Given the description of an element on the screen output the (x, y) to click on. 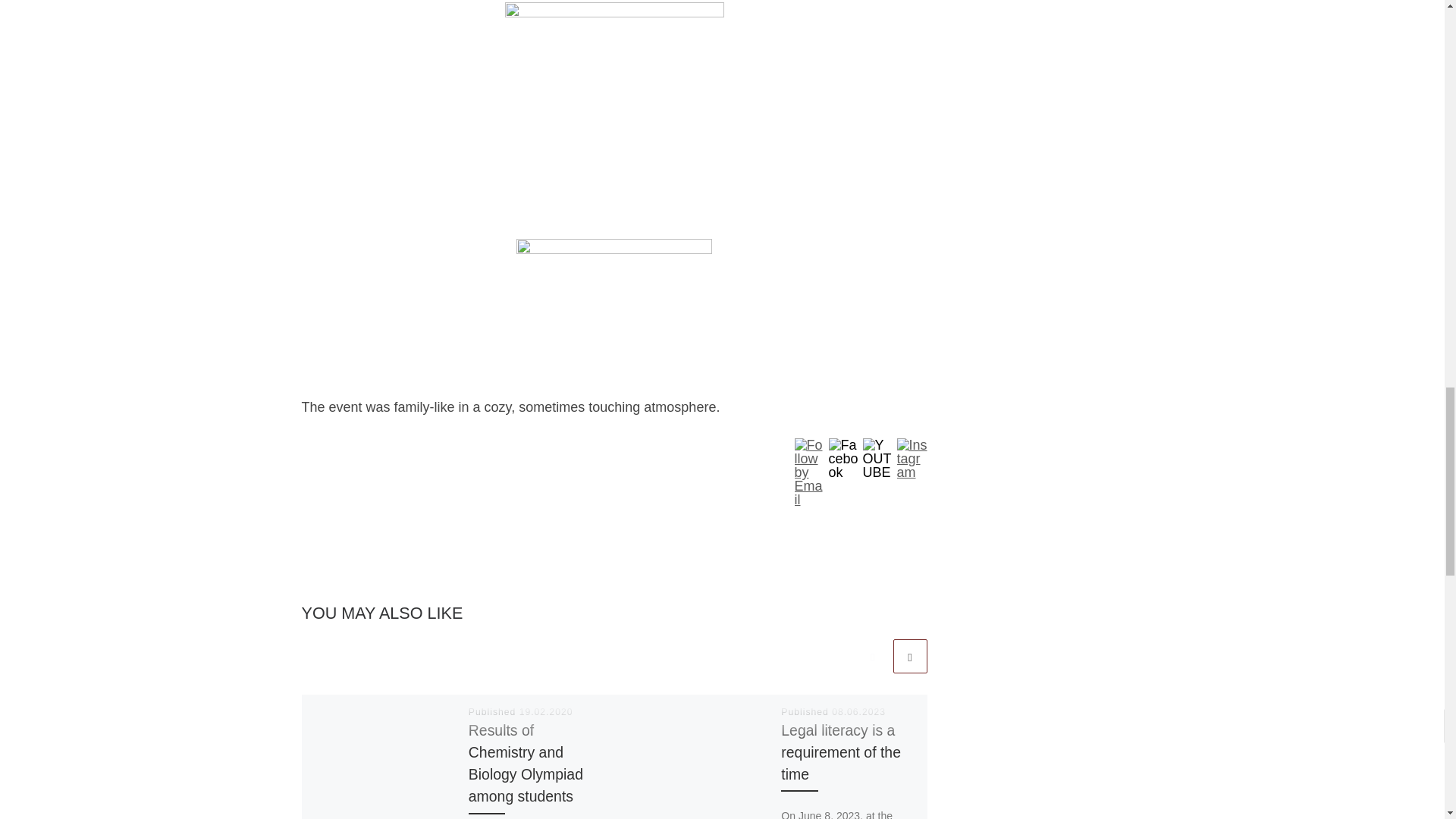
Previous related articles (872, 656)
